Given the description of an element on the screen output the (x, y) to click on. 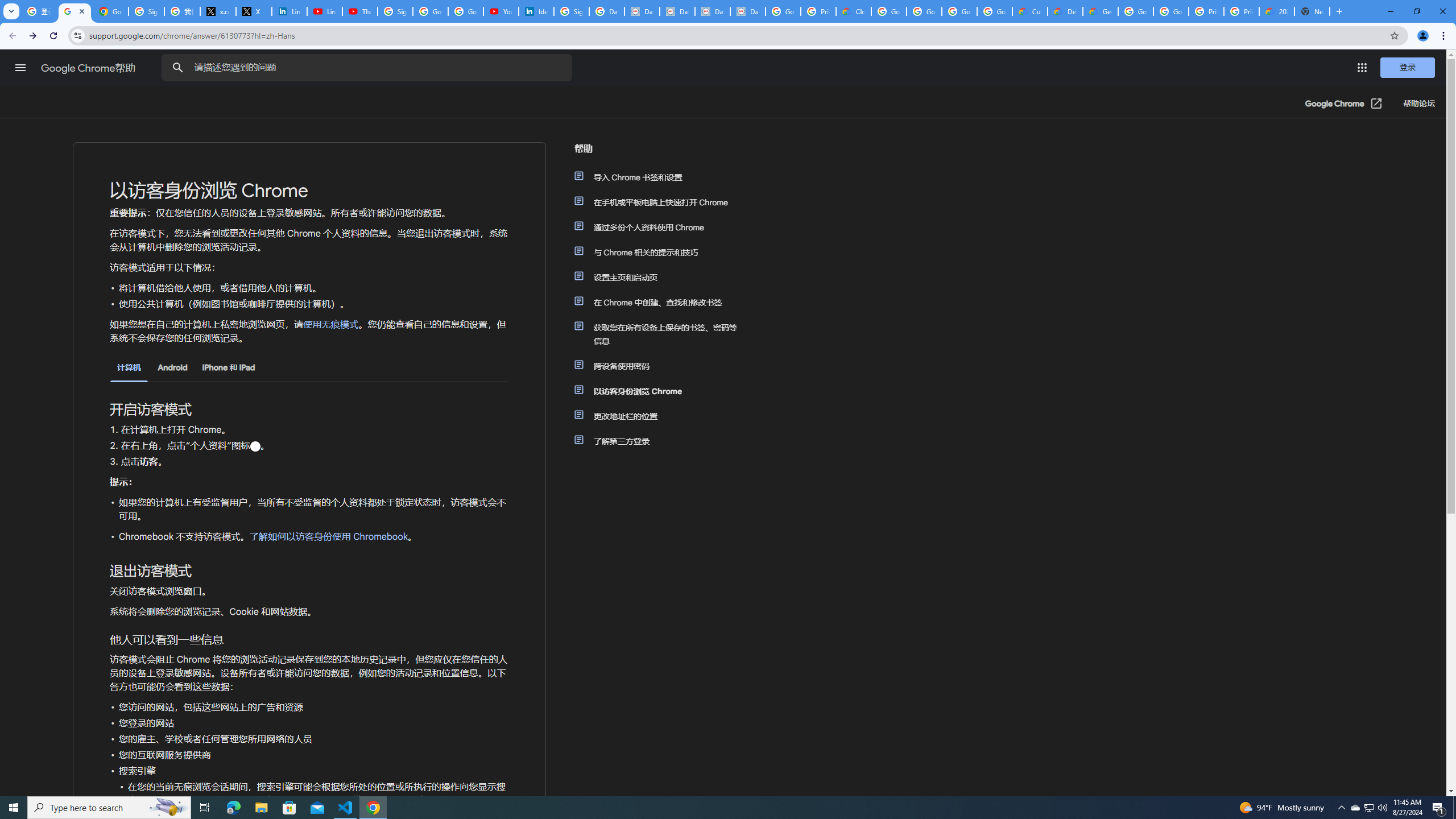
Android (172, 367)
LinkedIn - YouTube (324, 11)
Sign in - Google Accounts (145, 11)
Google Cloud Platform (1170, 11)
